Given the description of an element on the screen output the (x, y) to click on. 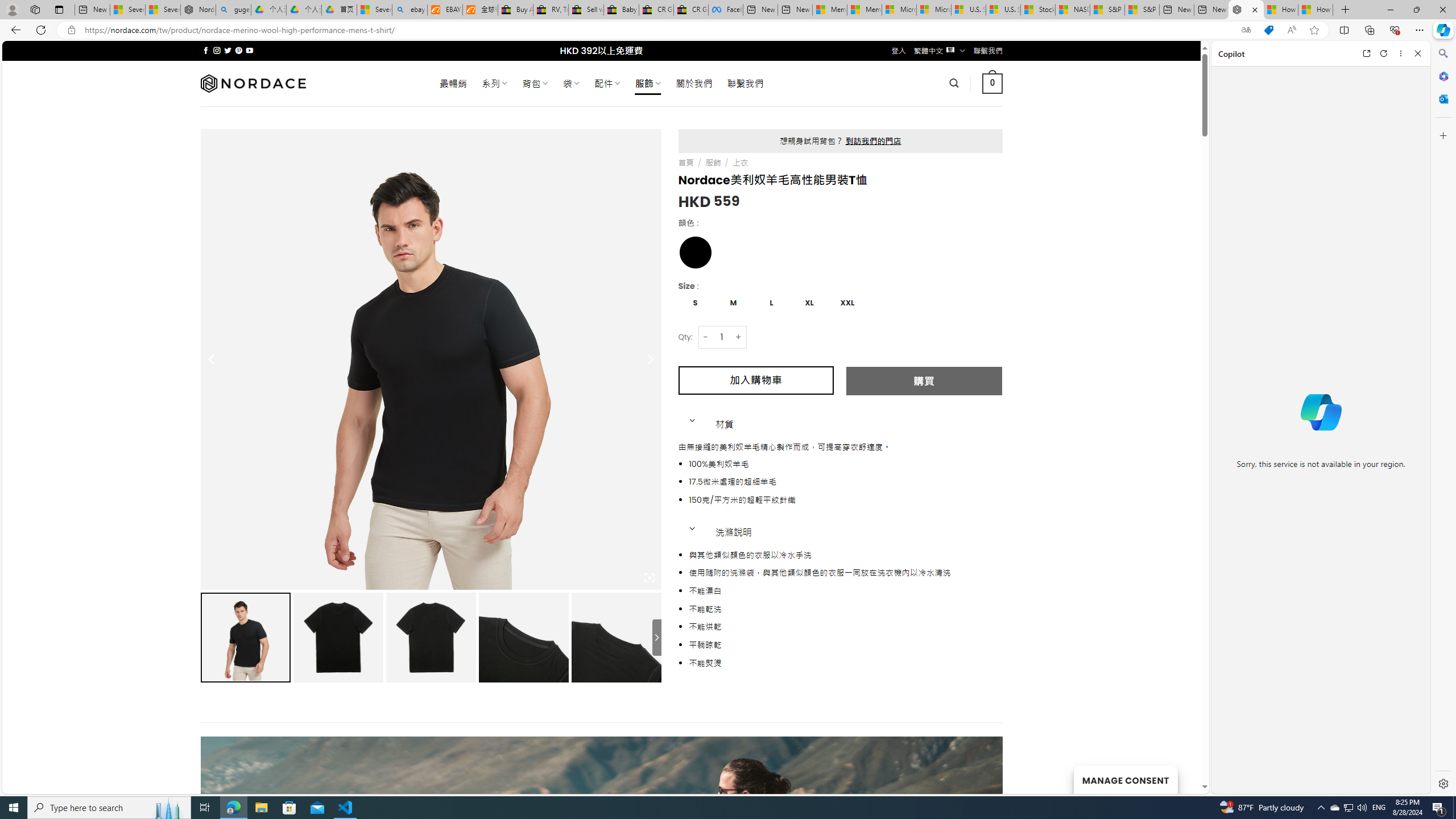
Outlook (1442, 98)
guge yunpan - Search (233, 9)
